Given the description of an element on the screen output the (x, y) to click on. 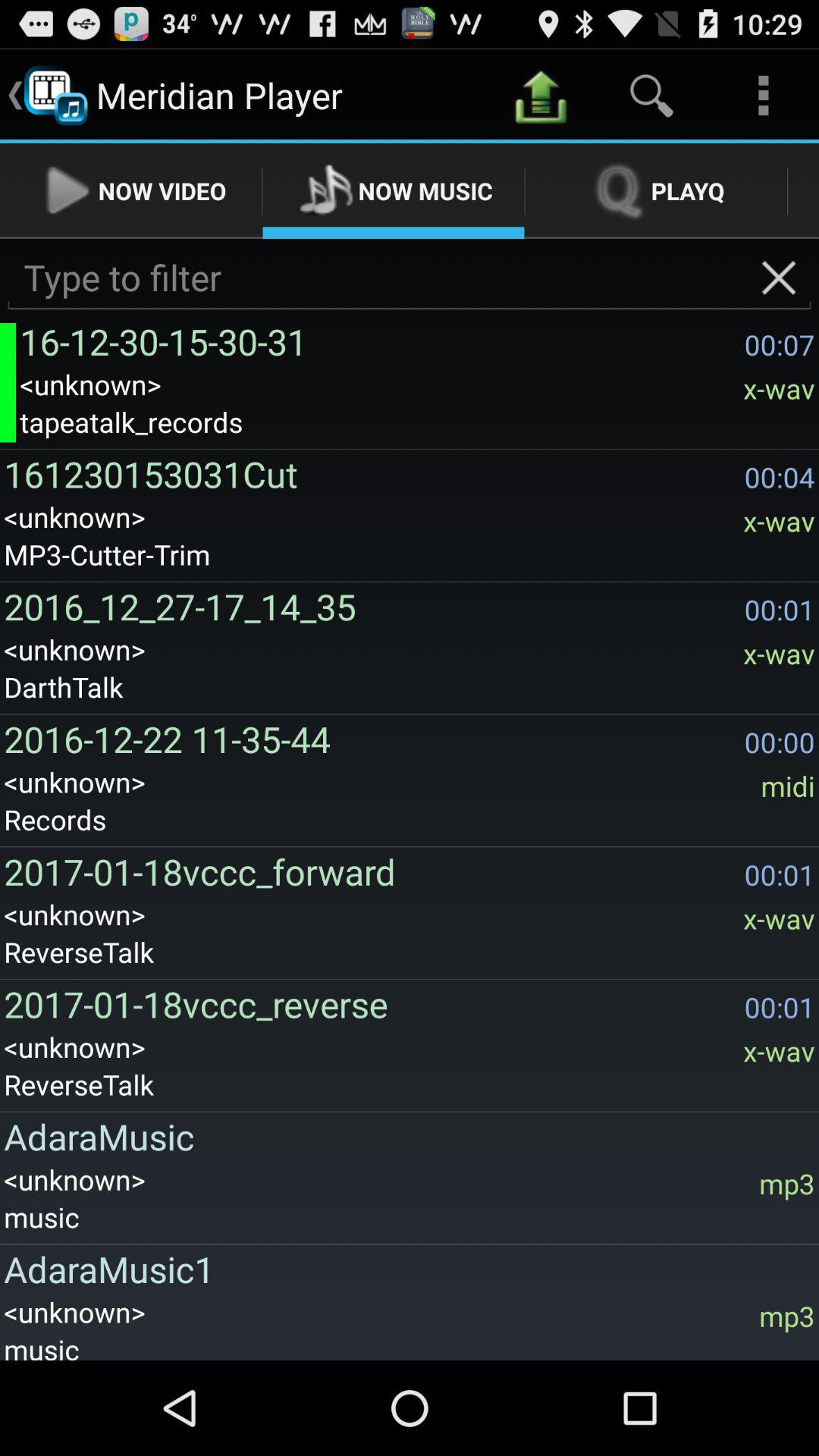
tap app next to the 16 12 30 icon (778, 277)
